Given the description of an element on the screen output the (x, y) to click on. 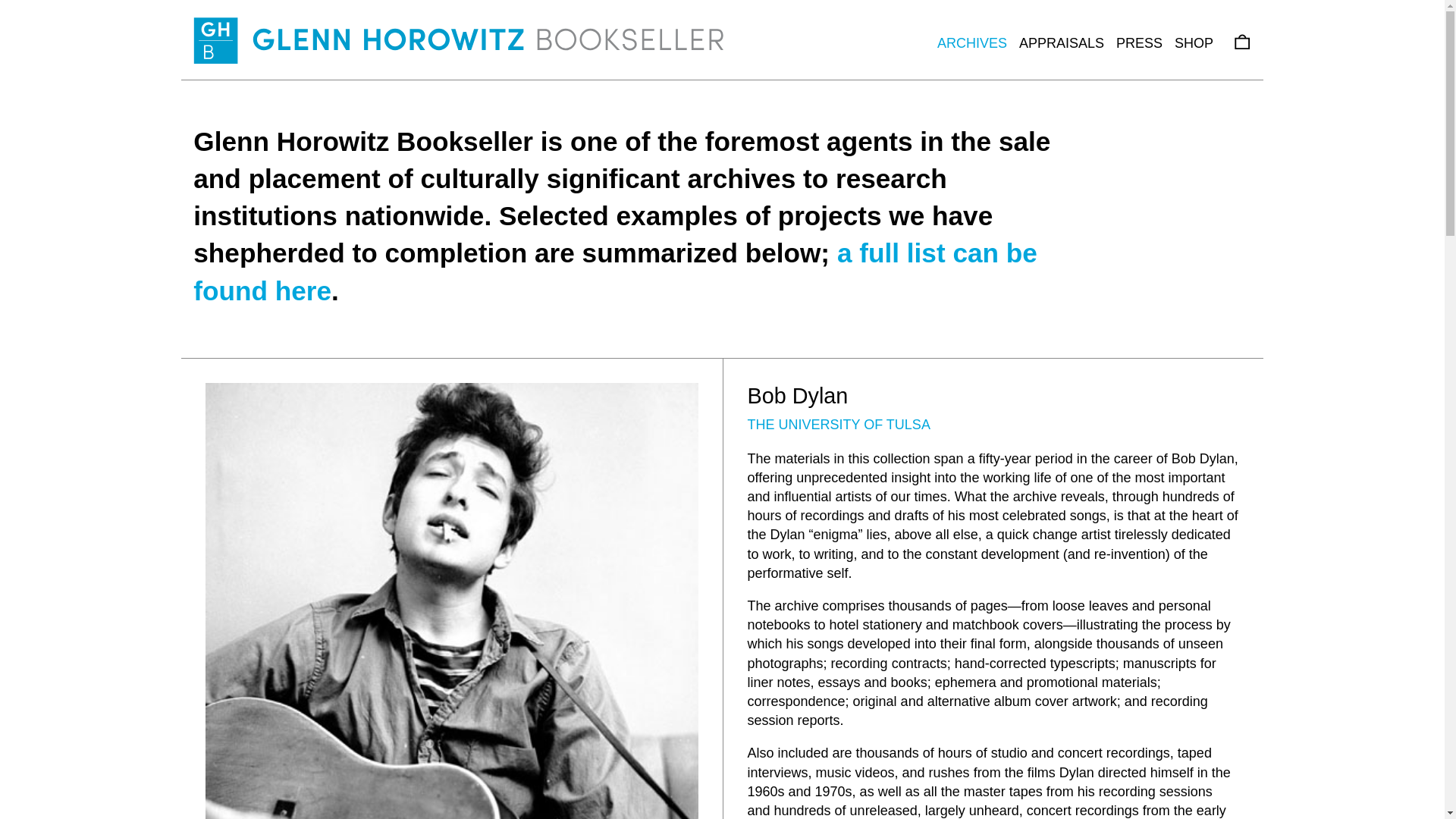
THE UNIVERSITY OF TULSA (839, 424)
PRESS (1138, 43)
APPRAISALS (1061, 43)
SHOP (1193, 43)
a full list can be found here (614, 271)
ARCHIVES (972, 43)
